Given the description of an element on the screen output the (x, y) to click on. 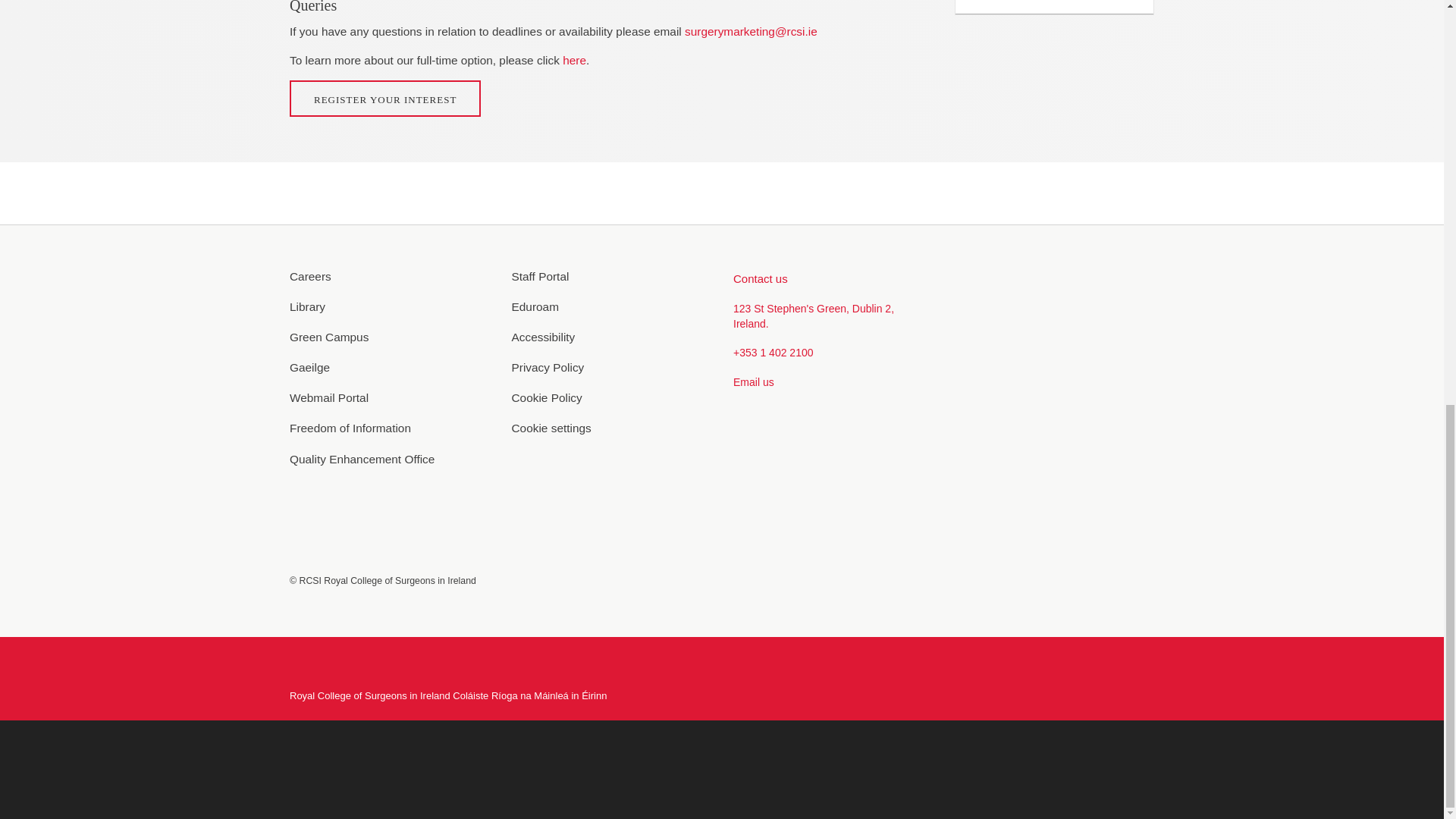
Green Campus (389, 336)
Quality Enhancement Office (389, 458)
Webmail Portal (389, 397)
Library (389, 306)
Gaeilge (389, 366)
Freedom of Information (389, 427)
Careers (389, 276)
